Given the description of an element on the screen output the (x, y) to click on. 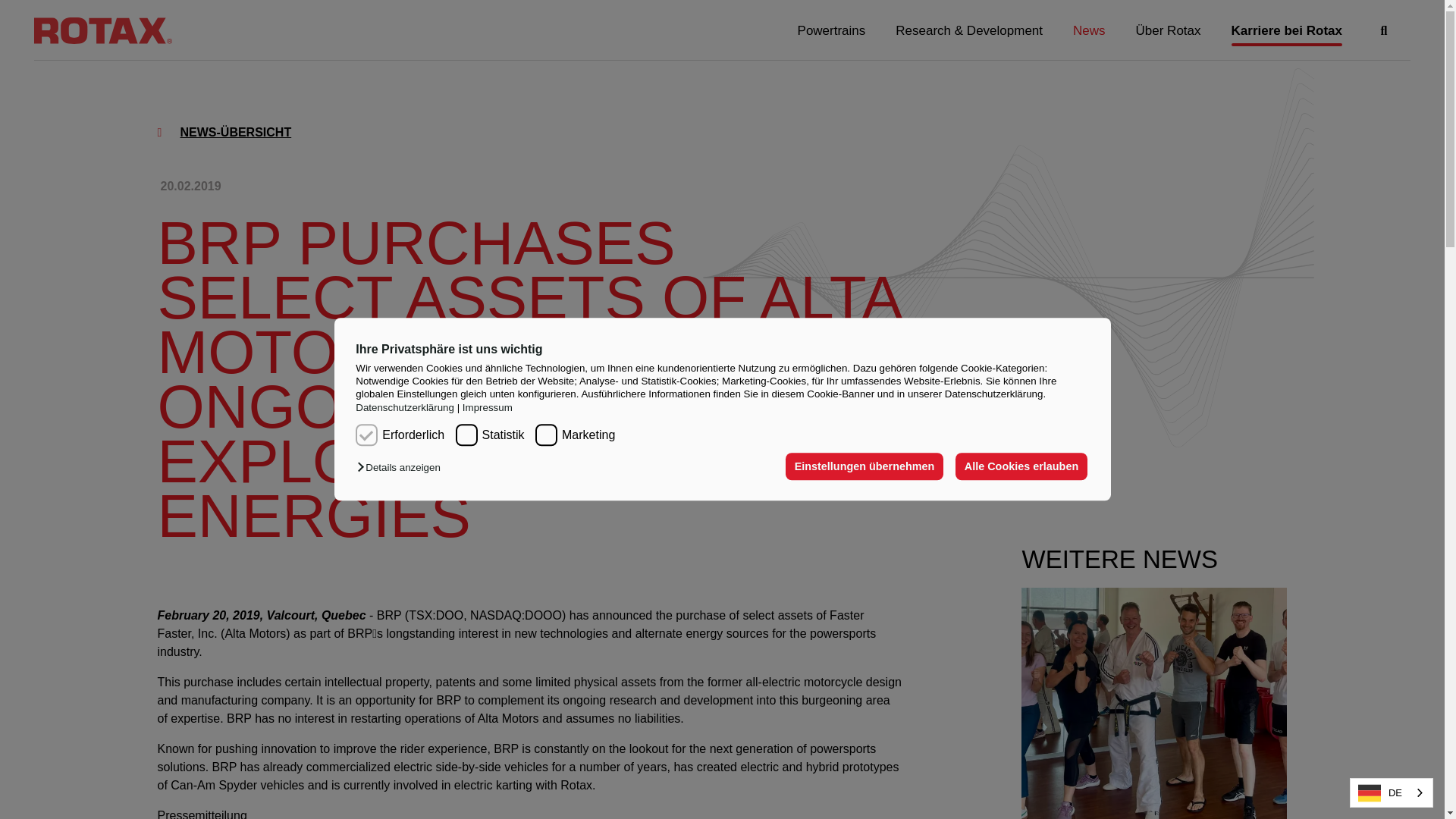
Alle Cookies erlauben (1020, 466)
Impressum (484, 407)
Impressum (484, 407)
News (1089, 31)
Details anzeigen (401, 468)
